Given the description of an element on the screen output the (x, y) to click on. 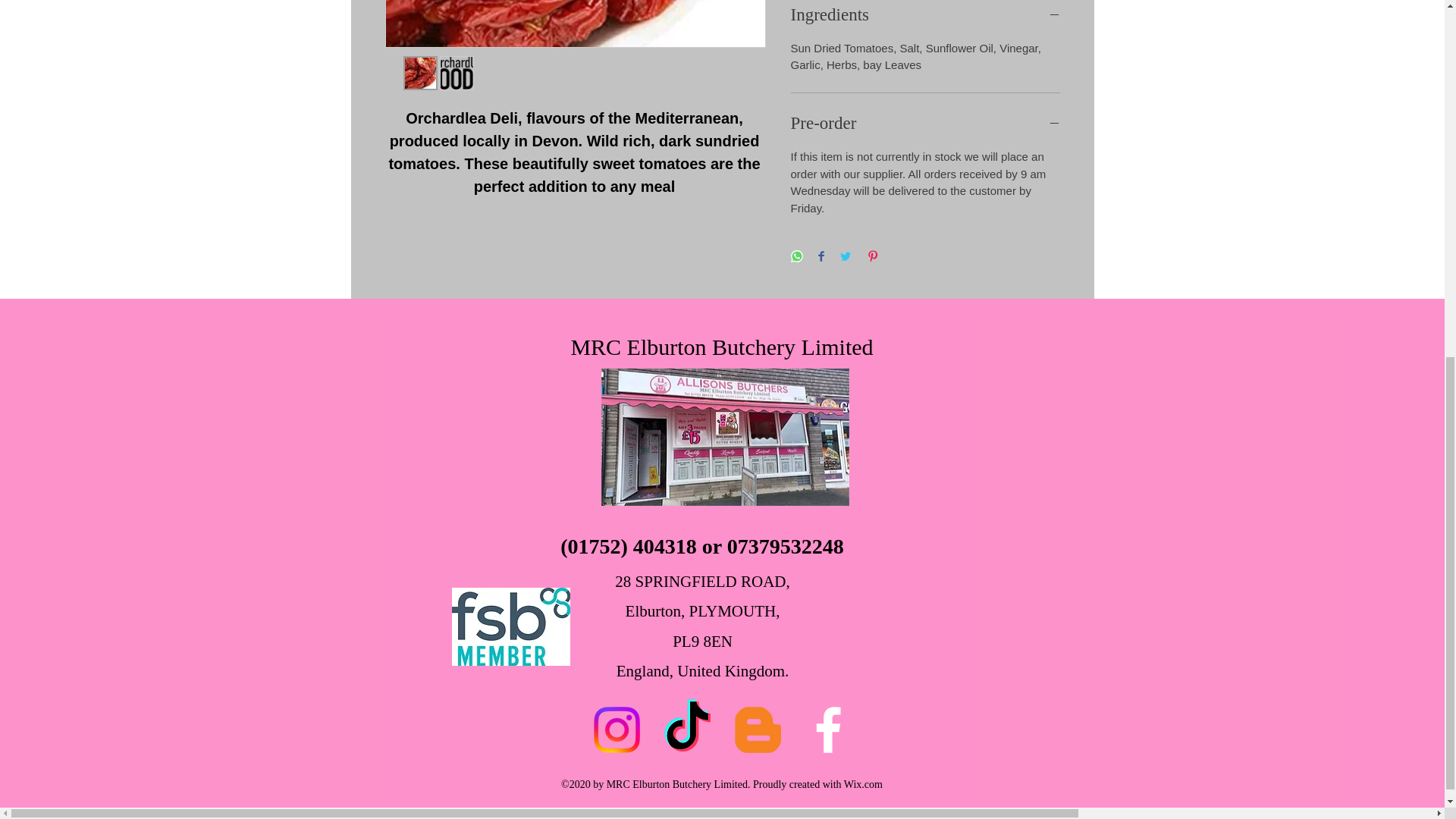
Ingredients (924, 15)
Pre-order (924, 123)
MRC Elburton Butchery Limited (721, 346)
